Given the description of an element on the screen output the (x, y) to click on. 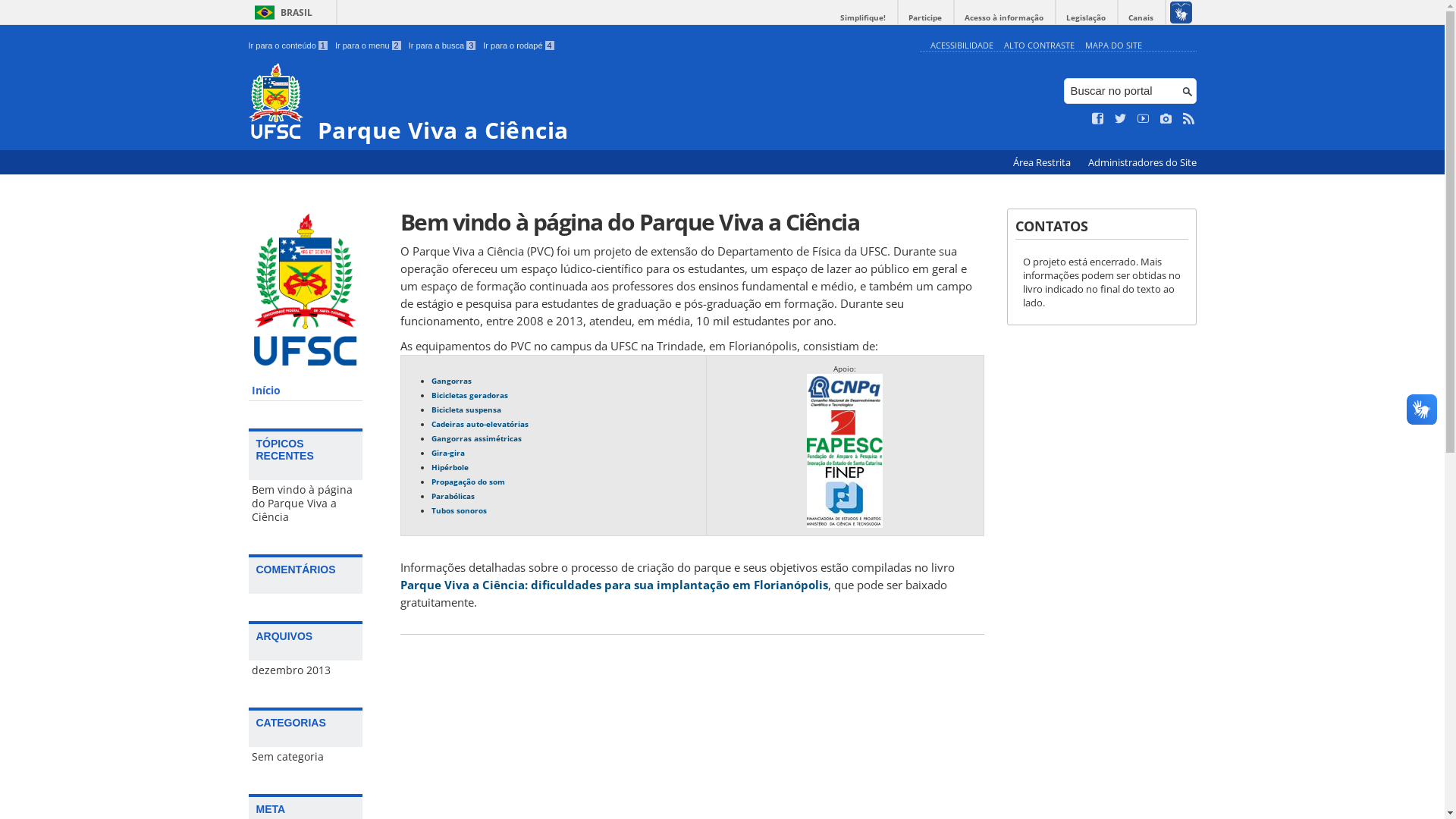
Simplifique! Element type: text (862, 18)
Gangorras Element type: text (450, 379)
MAPA DO SITE Element type: text (1112, 44)
Gira-gira Element type: text (447, 452)
Siga no Twitter Element type: hover (1120, 118)
Ir para a busca 3 Element type: text (442, 45)
Ir para o menu 2 Element type: text (368, 45)
Sem categoria Element type: text (305, 756)
ACESSIBILIDADE Element type: text (960, 44)
Participe Element type: text (924, 18)
Canais Element type: text (1140, 18)
BRASIL Element type: text (280, 12)
Administradores do Site Element type: text (1141, 162)
Veja no Instagram Element type: hover (1166, 118)
Bicicleta suspensa Element type: text (465, 408)
ALTO CONTRASTE Element type: text (1039, 44)
dezembro 2013 Element type: text (305, 670)
Curta no Facebook Element type: hover (1098, 118)
Tubos sonoros Element type: text (458, 510)
Bicicletas geradoras Element type: text (468, 394)
